Given the description of an element on the screen output the (x, y) to click on. 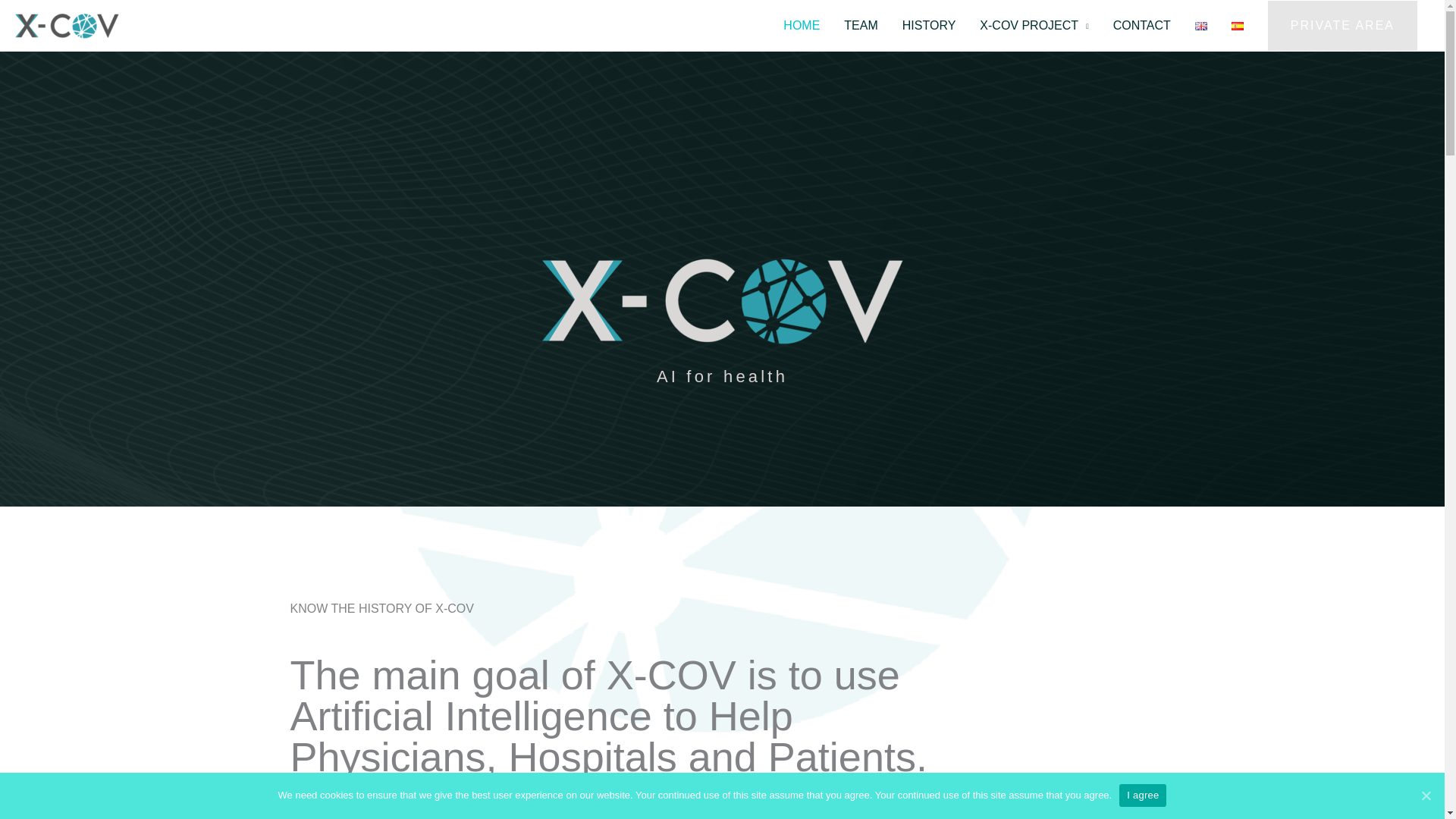
CONTACT (1141, 25)
X-COV PROJECT (1034, 25)
HOME (801, 25)
TEAM (860, 25)
HISTORY (928, 25)
PRIVATE AREA (1342, 25)
